Given the description of an element on the screen output the (x, y) to click on. 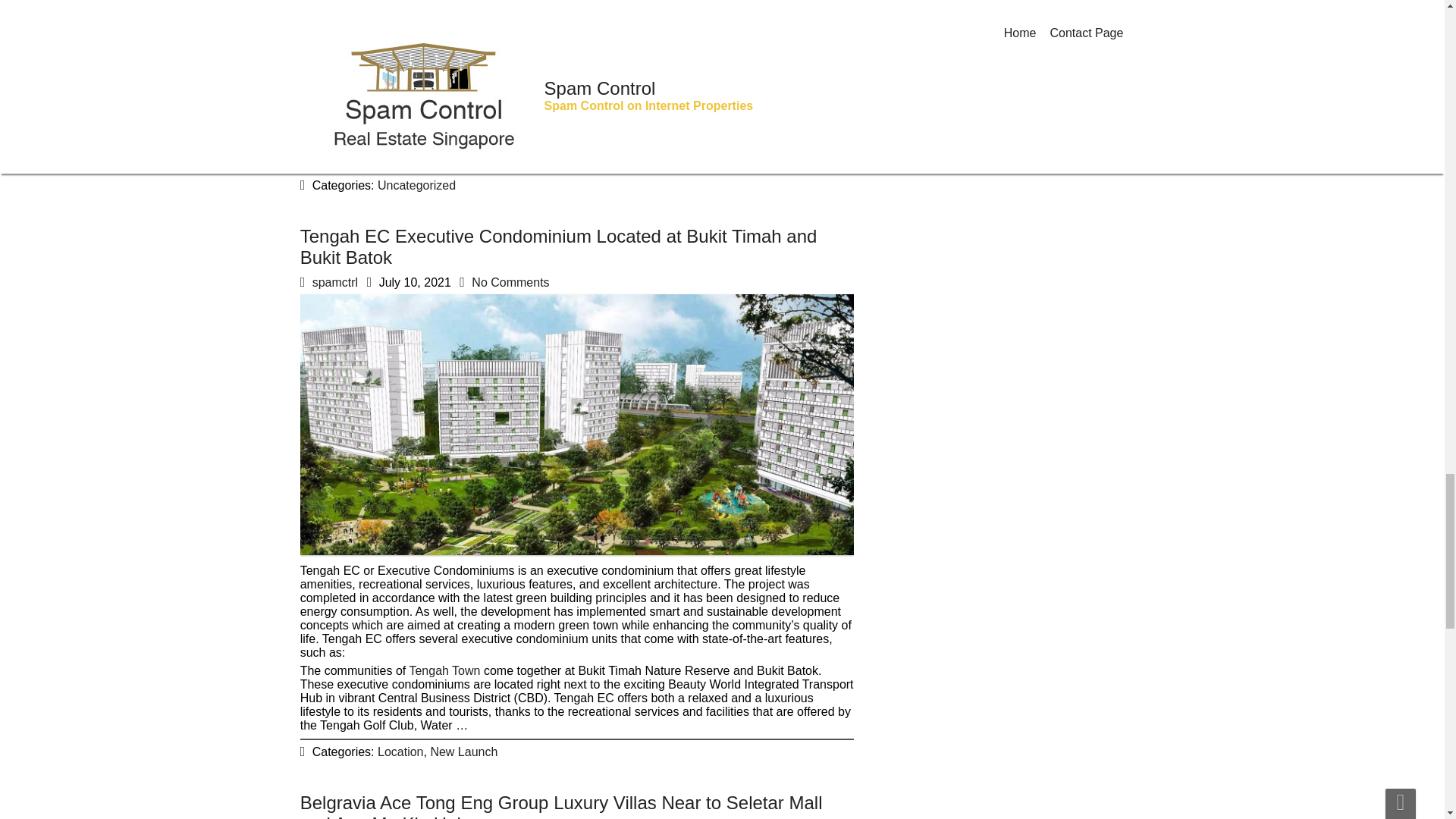
Tampines Street 62 EC Located At Tampines Avenue 10 (562, 15)
new luxury executive condominium in Tampines (452, 31)
Uncategorized (416, 185)
spamctrl (335, 282)
